Given the description of an element on the screen output the (x, y) to click on. 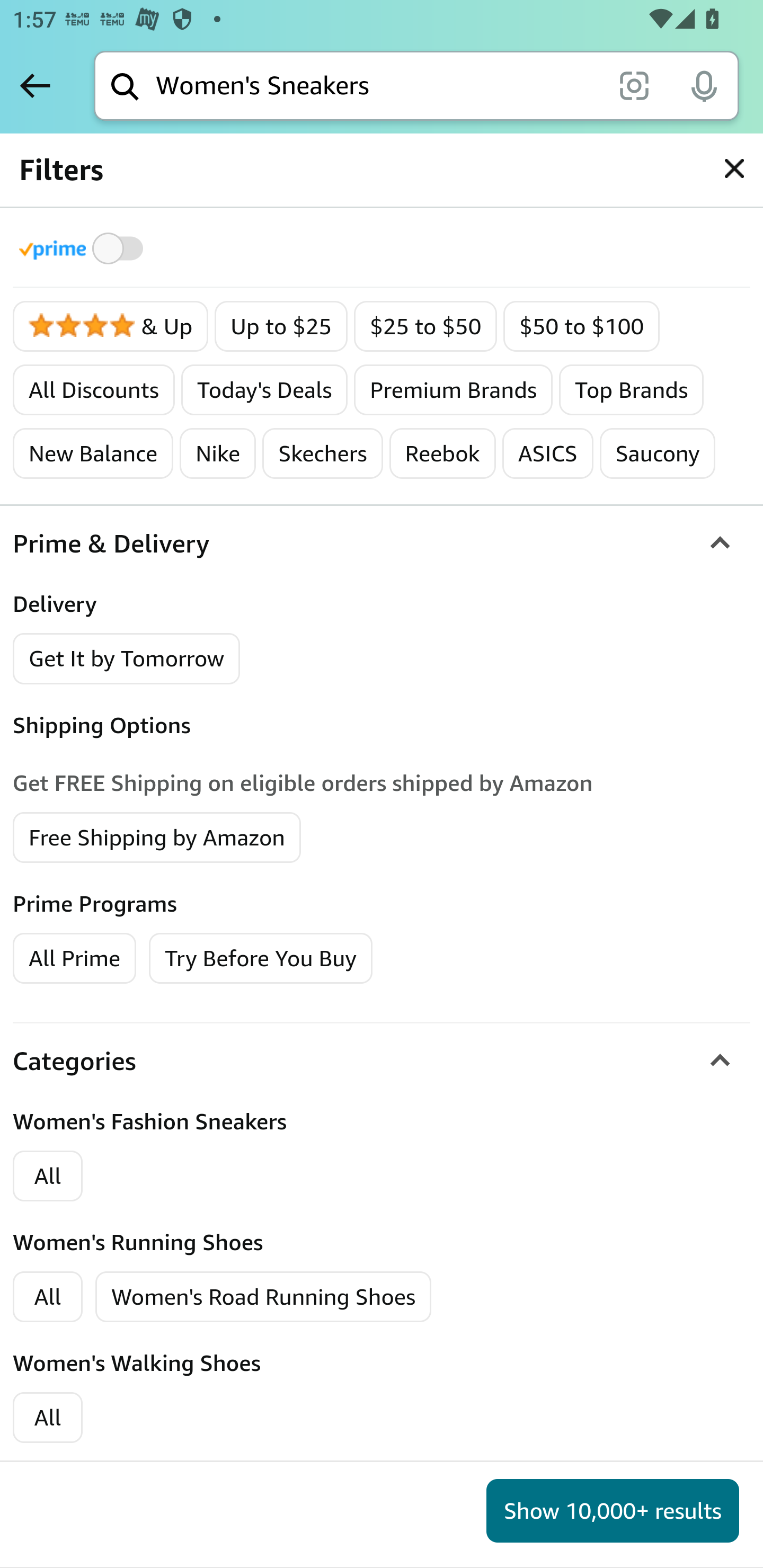
Back (35, 85)
scan it (633, 85)
Toggle to filter by Prime products Prime Eligible (83, 247)
4 Stars & Up (110, 326)
Up to $25 (280, 326)
$25 to $50 (424, 326)
$50 to $100 (581, 326)
All Discounts (93, 390)
Today's Deals (263, 390)
Premium Brands (452, 390)
Top Brands (630, 390)
New Balance (93, 453)
Nike (218, 453)
Skechers (322, 453)
Reebok (441, 453)
ASICS (547, 453)
Saucony (657, 453)
Prime & Delivery (381, 543)
Get It by Tomorrow (126, 658)
Free Shipping by Amazon (157, 836)
All Prime (74, 957)
Try Before You Buy (260, 957)
Categories (381, 1060)
All (47, 1175)
All (47, 1297)
Women's Road Running Shoes (263, 1297)
All (47, 1418)
Show 10,000+ results (612, 1510)
